Given the description of an element on the screen output the (x, y) to click on. 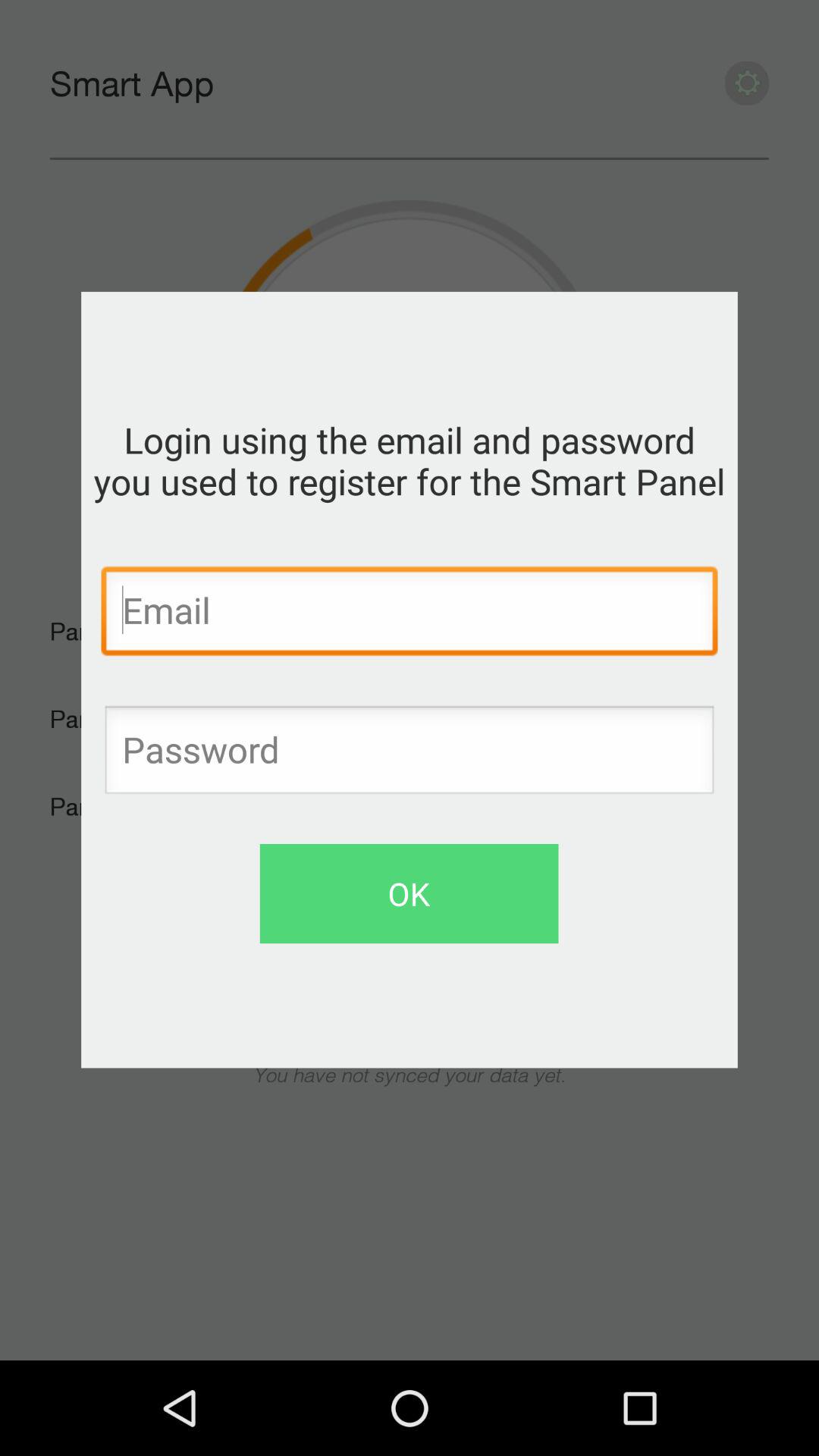
tap the icon below login using the (409, 614)
